Given the description of an element on the screen output the (x, y) to click on. 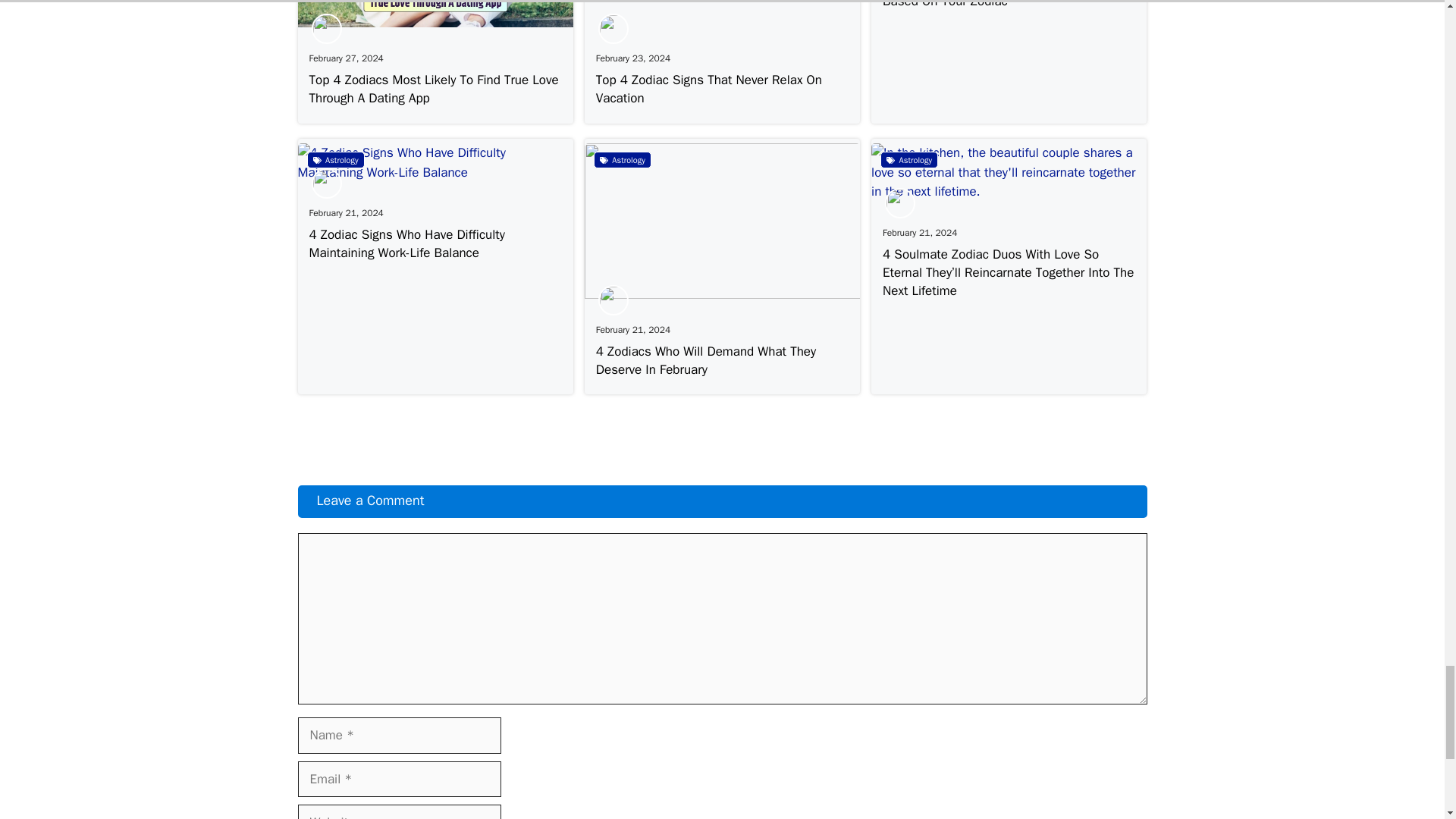
Top 4 Zodiac Signs That Never Relax On Vacation (708, 89)
The Wrong Type Of Person You Attract, Based On Your Zodiac (991, 4)
Astrology (334, 159)
